Given the description of an element on the screen output the (x, y) to click on. 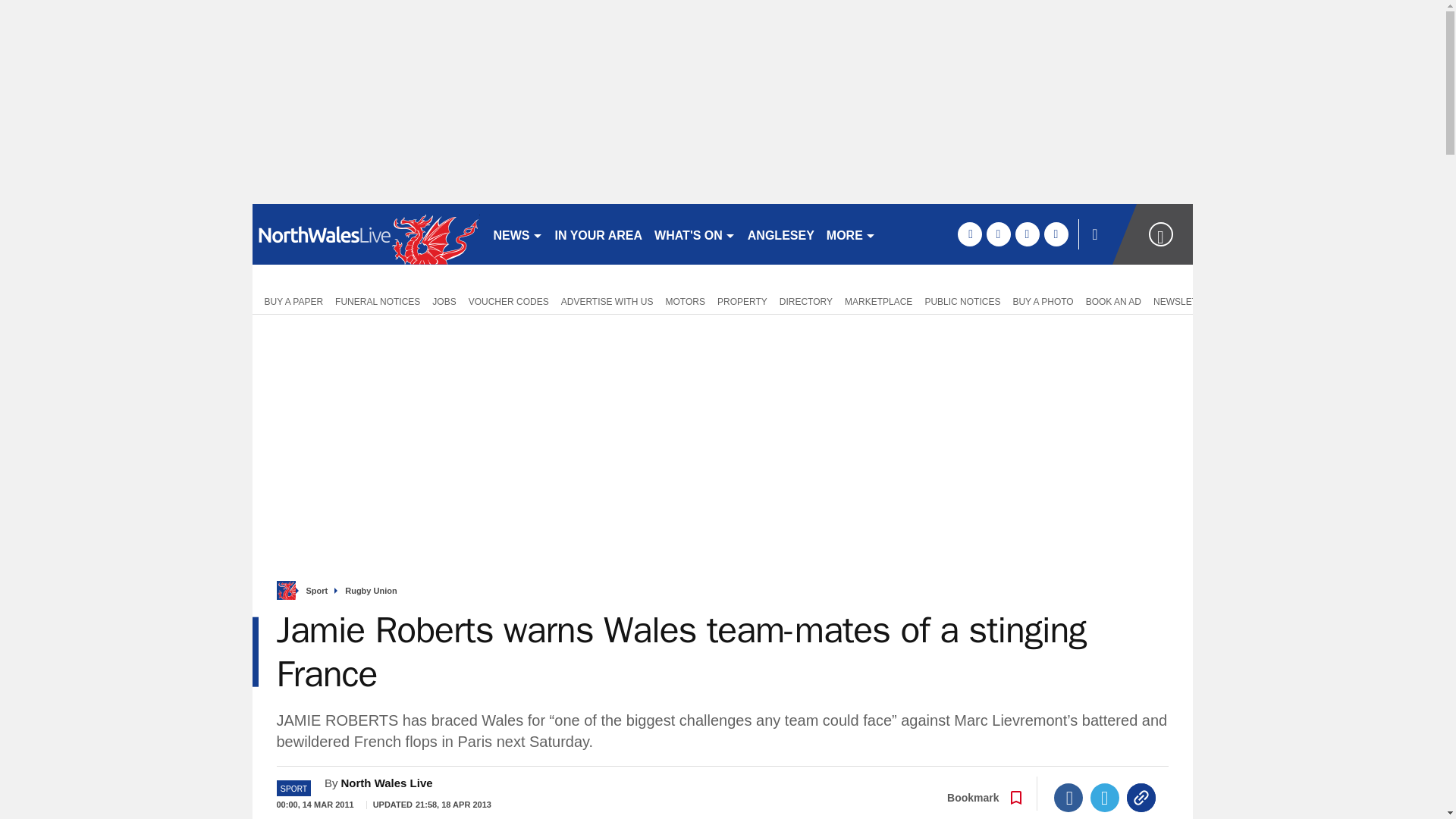
FUNERAL NOTICES (377, 300)
pinterest (1026, 233)
WHAT'S ON (694, 233)
VOUCHER CODES (508, 300)
PROPERTY (742, 300)
northwales (365, 233)
JOBS (443, 300)
twitter (997, 233)
IN YOUR AREA (598, 233)
instagram (1055, 233)
